Given the description of an element on the screen output the (x, y) to click on. 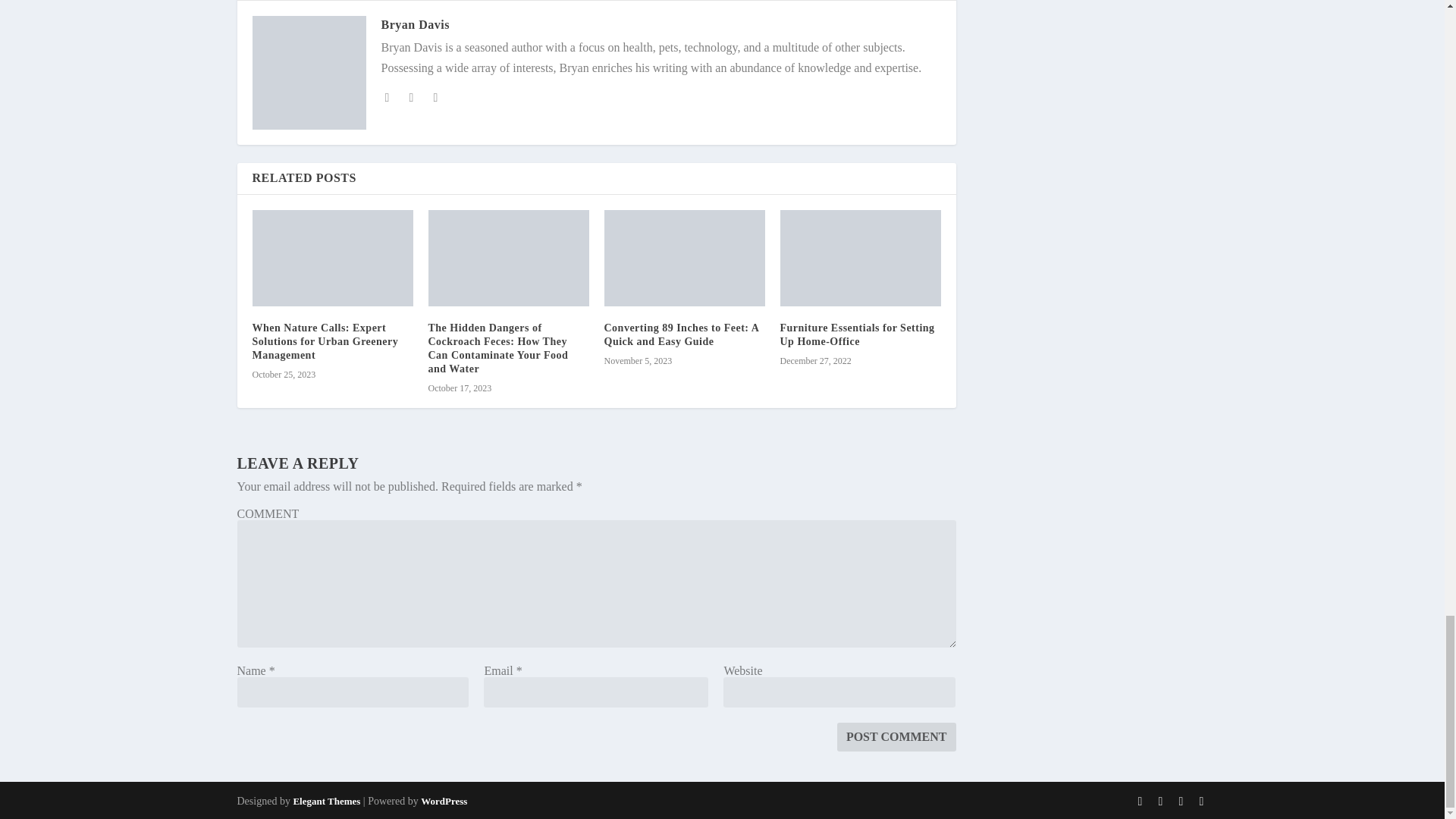
Post Comment (896, 736)
